Given the description of an element on the screen output the (x, y) to click on. 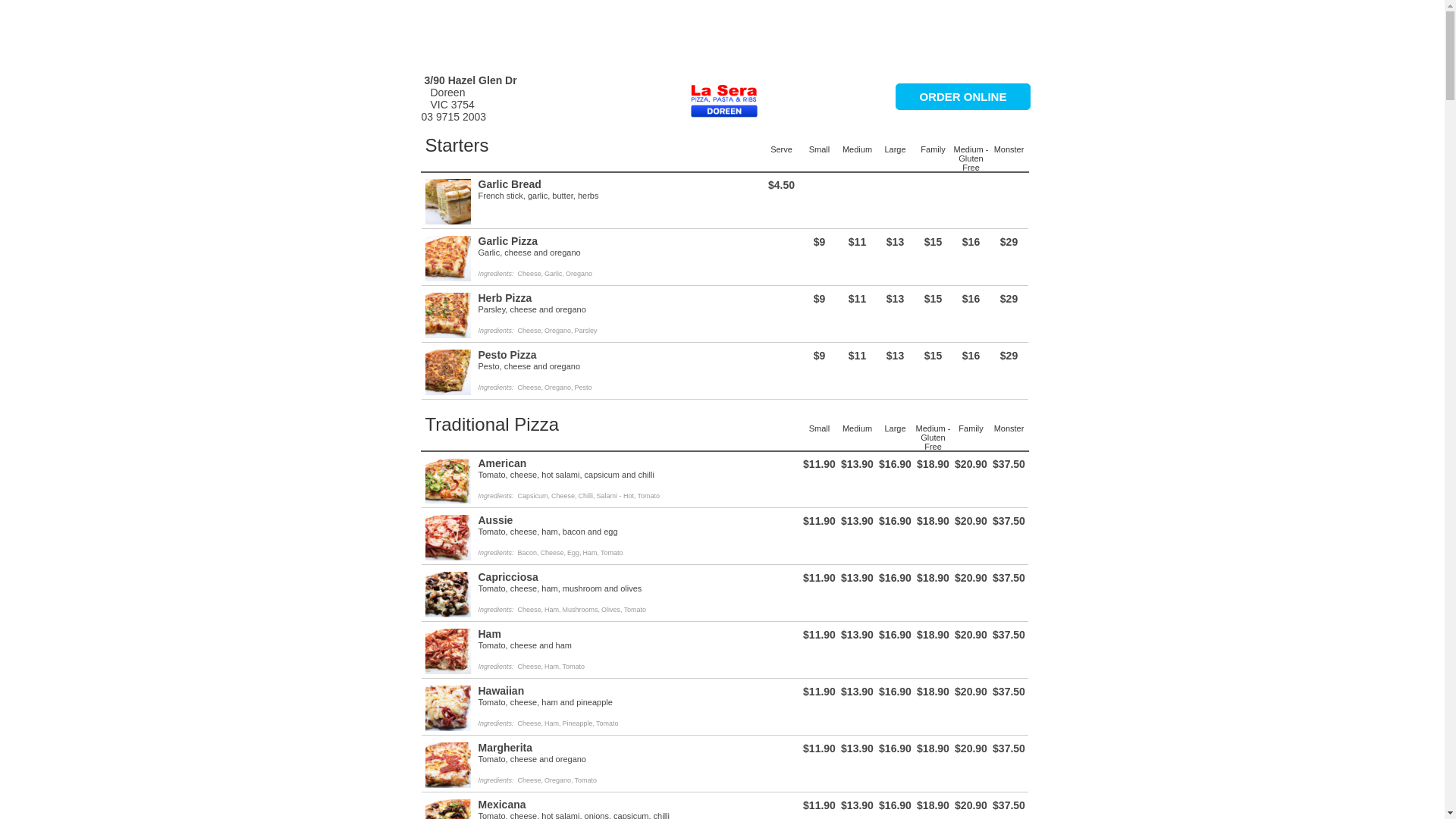
Starters Element type: text (456, 144)
Traditional Pizza Element type: text (491, 424)
ORDER ONLINE Element type: text (962, 96)
